Given the description of an element on the screen output the (x, y) to click on. 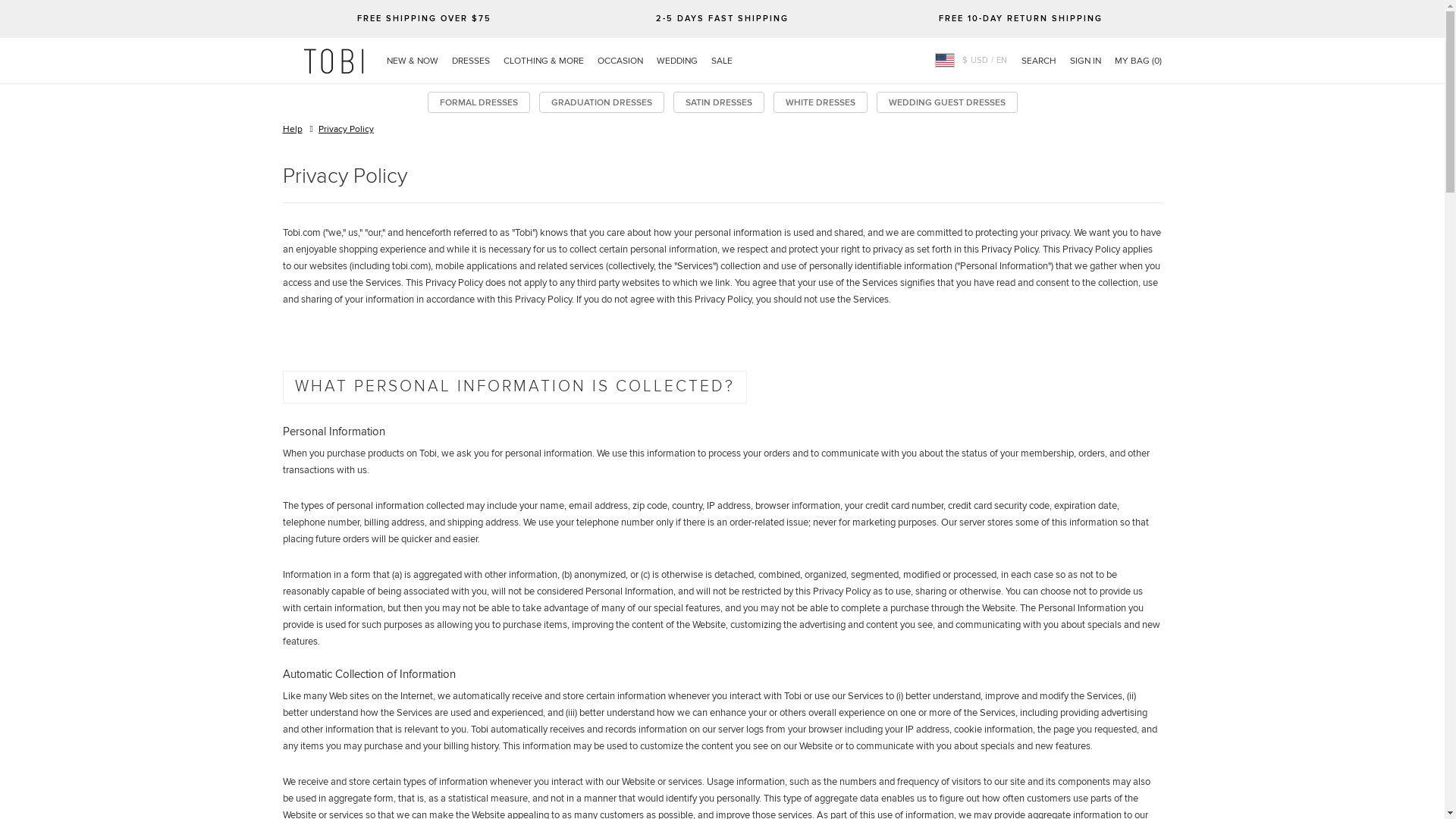
2-5 DAYS FAST SHIPPING (722, 18)
DRESSES (470, 60)
TOBI (333, 60)
FREE 10-DAY RETURN SHIPPING (1020, 18)
